Given the description of an element on the screen output the (x, y) to click on. 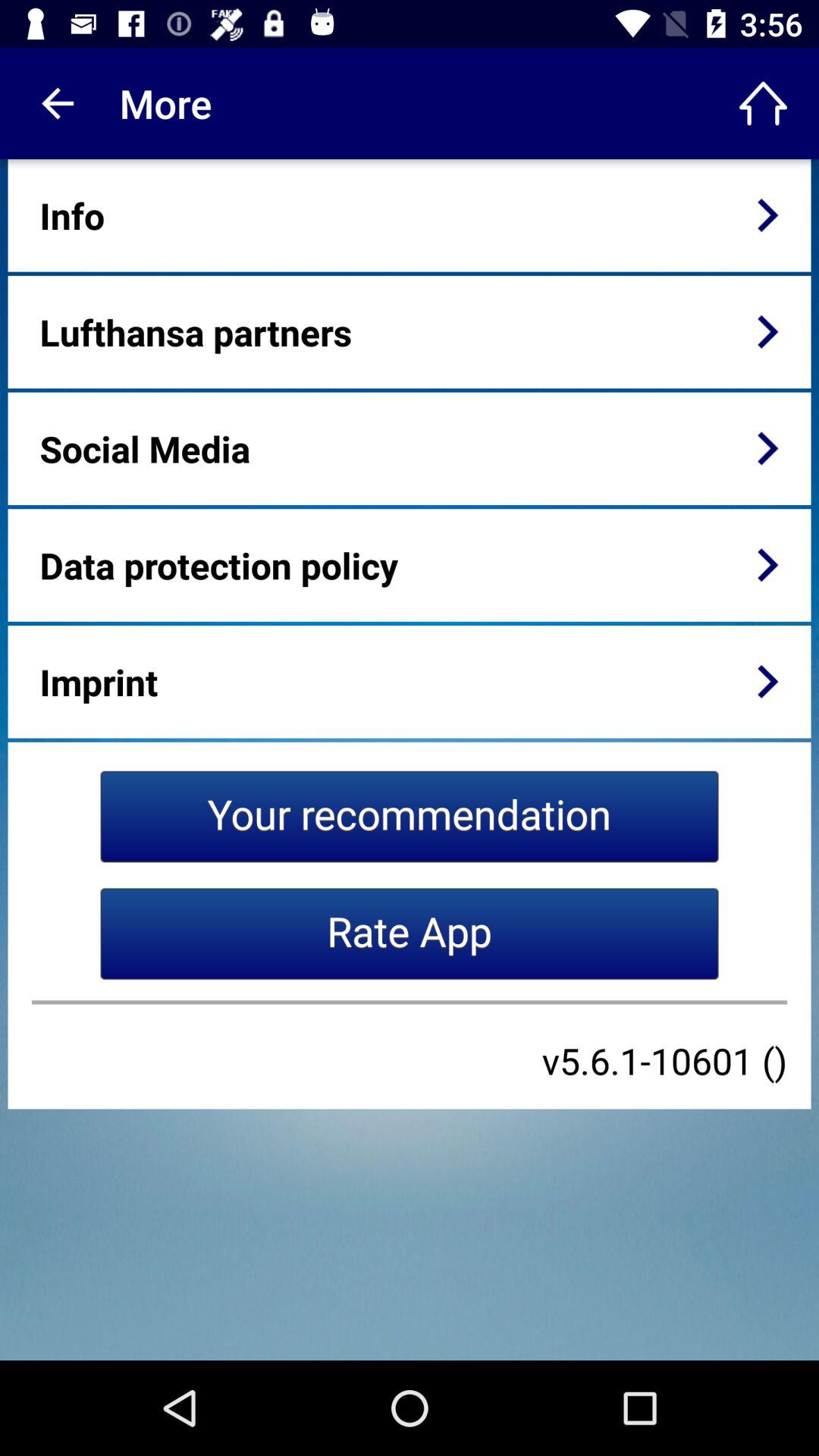
turn off icon next to lufthansa partners item (768, 331)
